Given the description of an element on the screen output the (x, y) to click on. 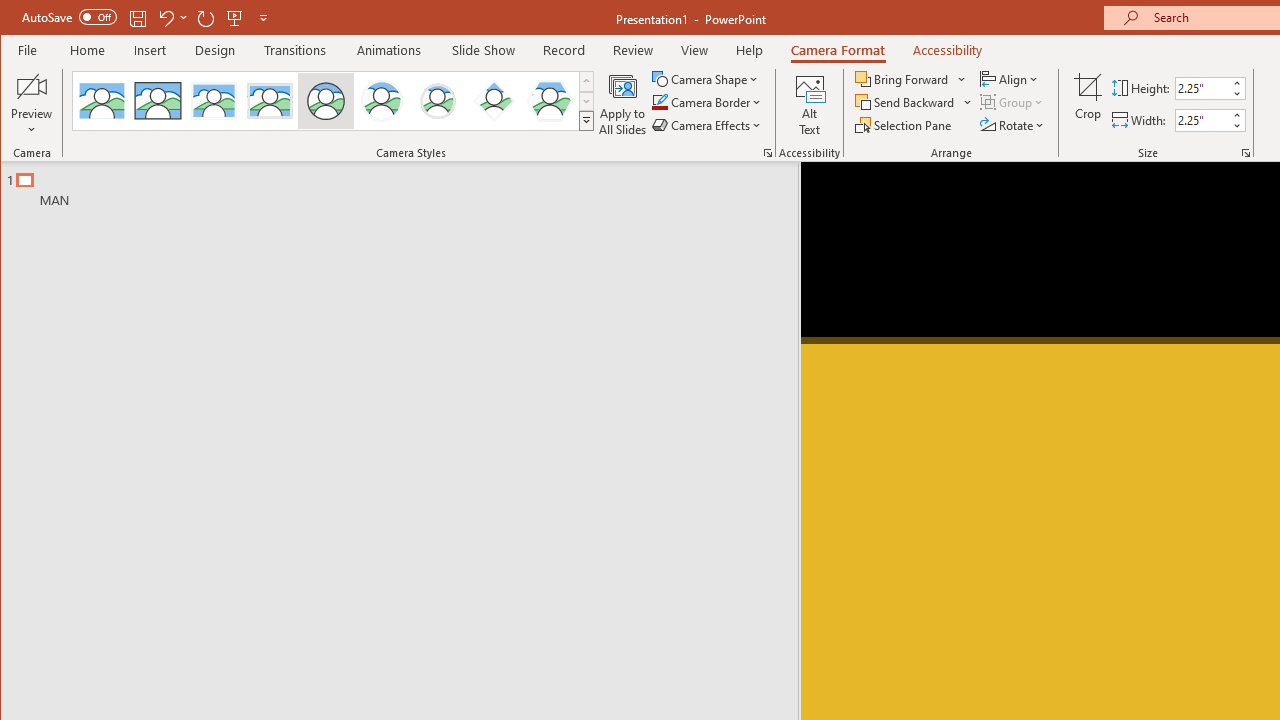
Selection Pane... (904, 124)
Soft Edge Circle (437, 100)
Camera Shape (706, 78)
Apply to All Slides (622, 104)
